Given the description of an element on the screen output the (x, y) to click on. 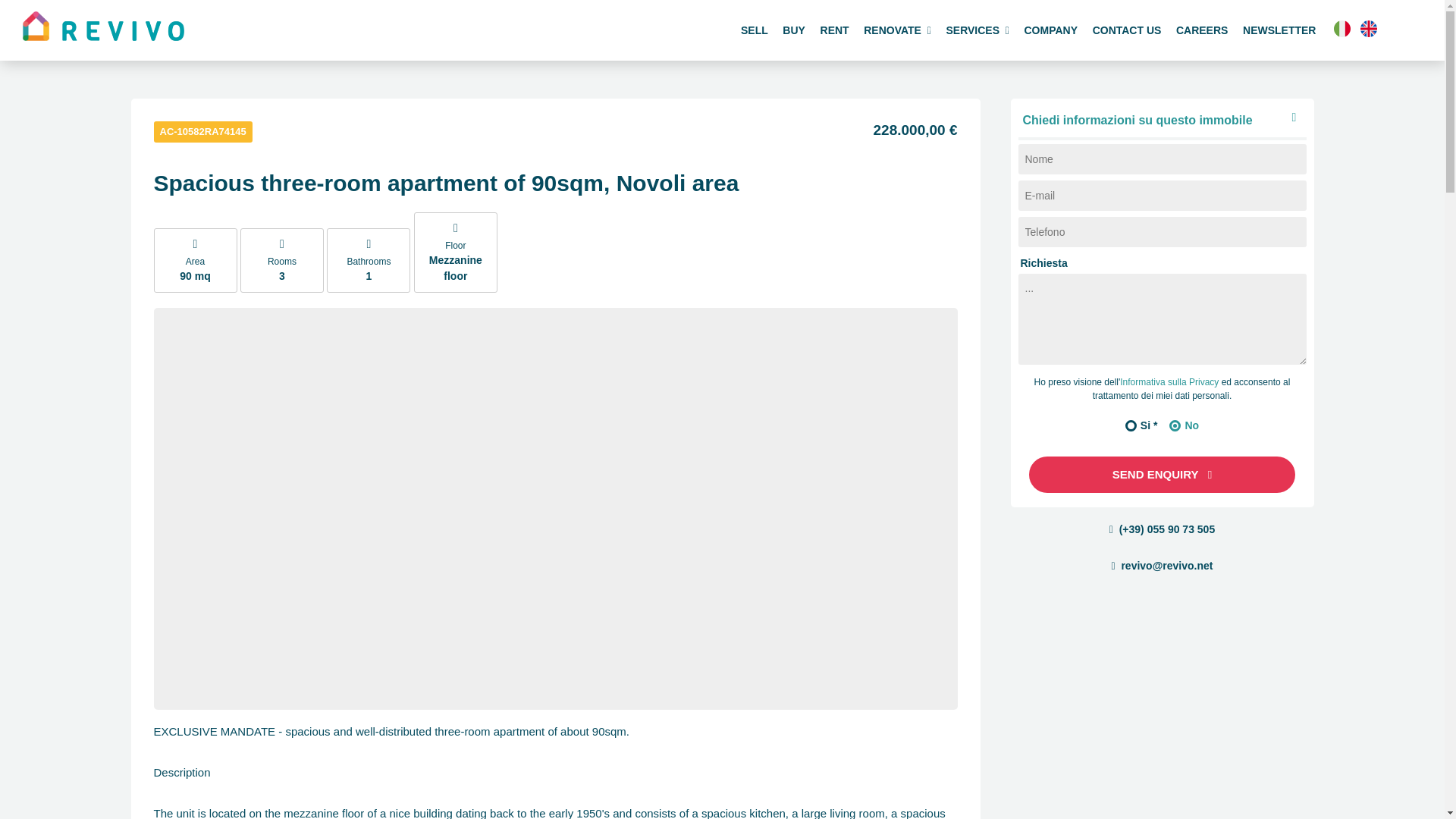
CONTACT US (1126, 30)
RENT (834, 30)
NEWSLETTER (1278, 30)
CAREERS (1201, 30)
COMPANY (1050, 30)
SERVICES   (977, 30)
SELL (753, 30)
BUY (794, 30)
RENOVATE   (896, 30)
